Given the description of an element on the screen output the (x, y) to click on. 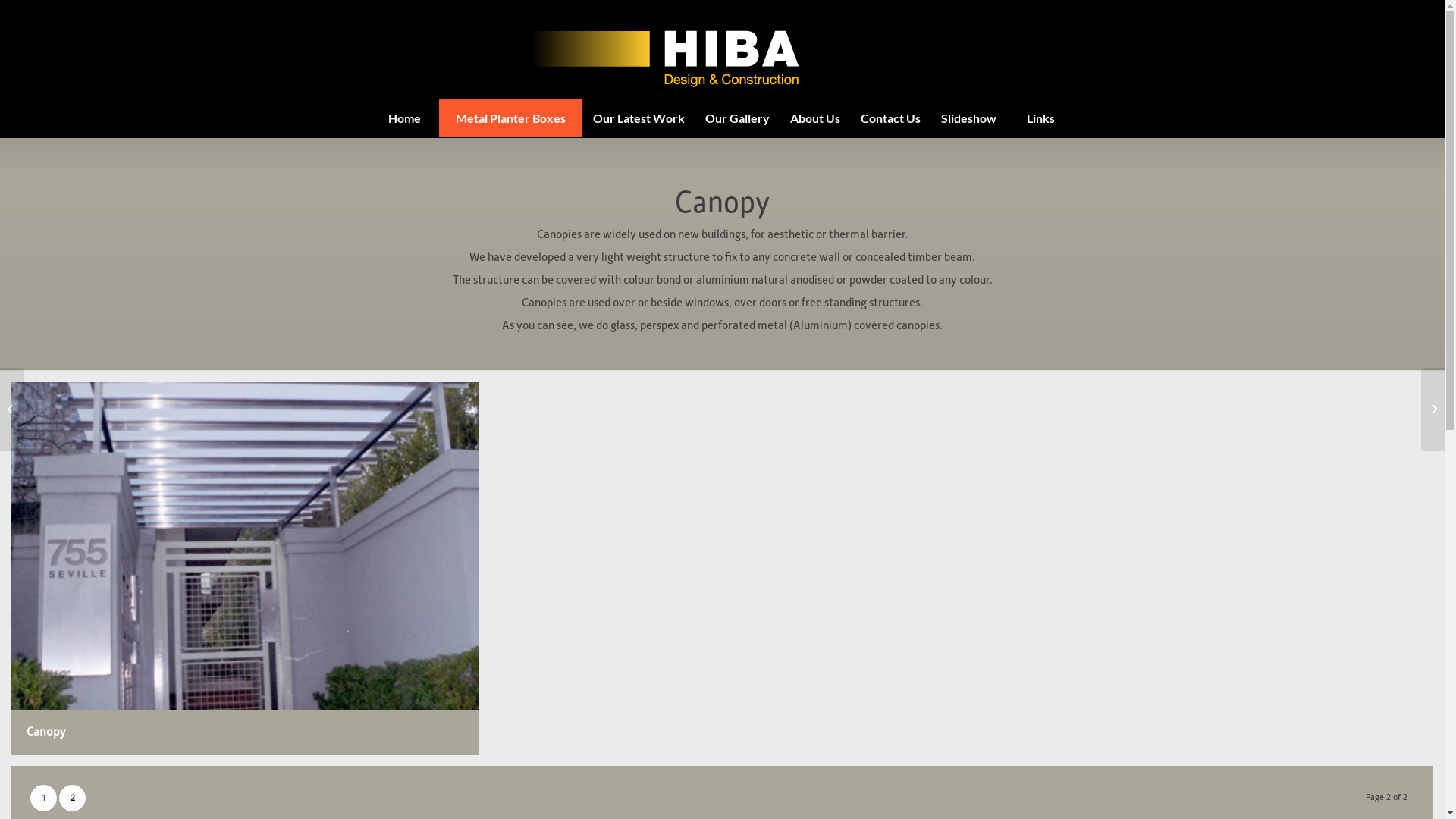
Slideshow Element type: text (968, 118)
Canopy Element type: hover (245, 568)
Home Element type: text (404, 118)
hiba_logo_rgb_2 Element type: hover (721, 43)
Our Gallery Element type: text (736, 118)
Canopy Element type: text (250, 573)
Our Latest Work Element type: text (638, 118)
Links Element type: text (1040, 118)
hiba_logo_rgb_2 Element type: hover (721, 49)
Contact Us Element type: text (890, 118)
About Us Element type: text (814, 118)
1 Element type: text (43, 797)
Metal Planter Boxes Element type: text (510, 118)
